Given the description of an element on the screen output the (x, y) to click on. 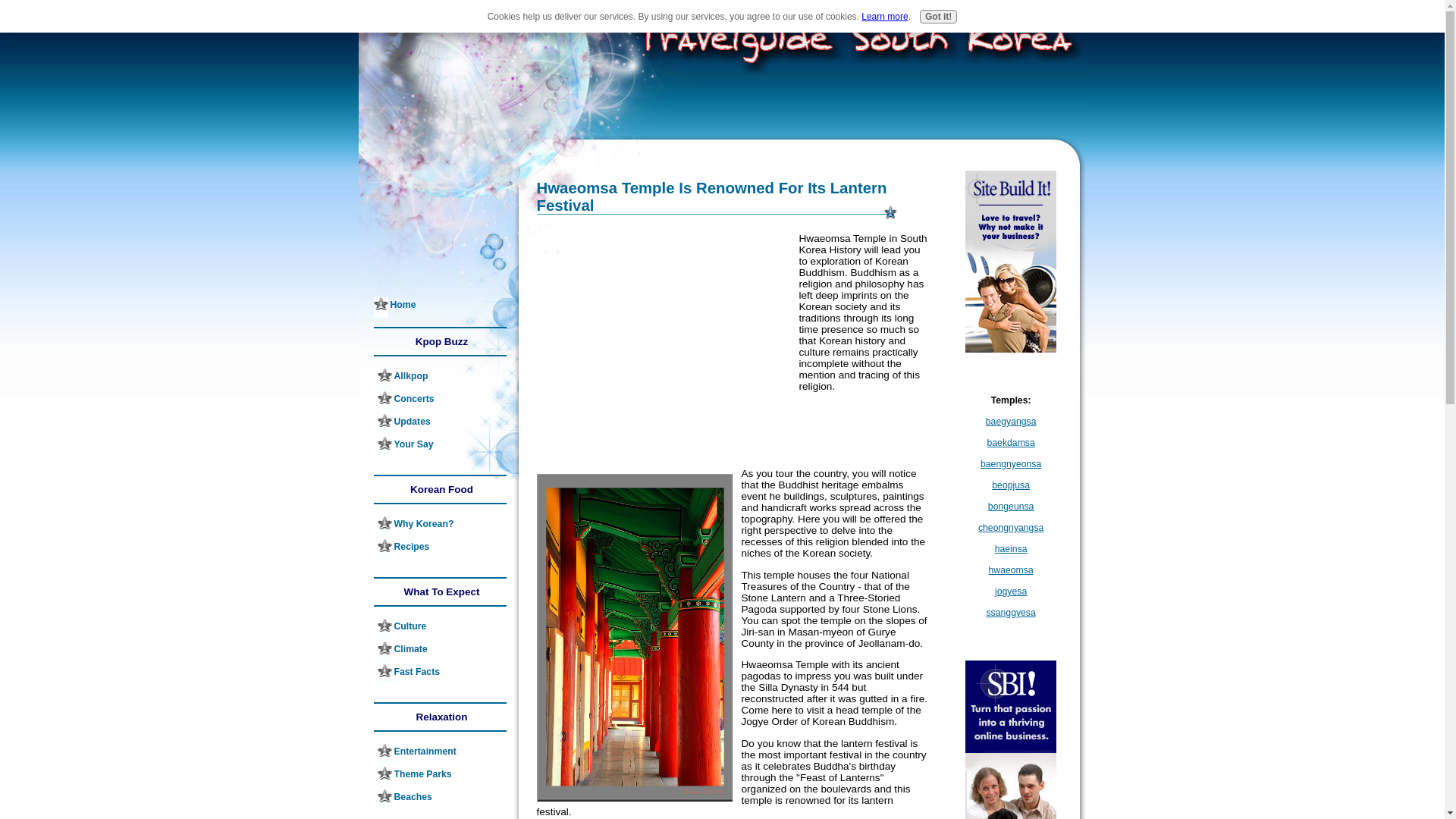
Allkpop (441, 378)
Recipes (441, 548)
baegyangsa (1010, 421)
baengnyeonsa (1010, 463)
Your Say (441, 446)
Advertisement (664, 338)
Climate (441, 651)
Culture (441, 629)
Why Korean? (441, 526)
Theme Parks (441, 776)
Advertisement (415, 260)
beopjusa (1010, 484)
bongeunsa (1010, 506)
Concerts (441, 401)
Updates (441, 424)
